Given the description of an element on the screen output the (x, y) to click on. 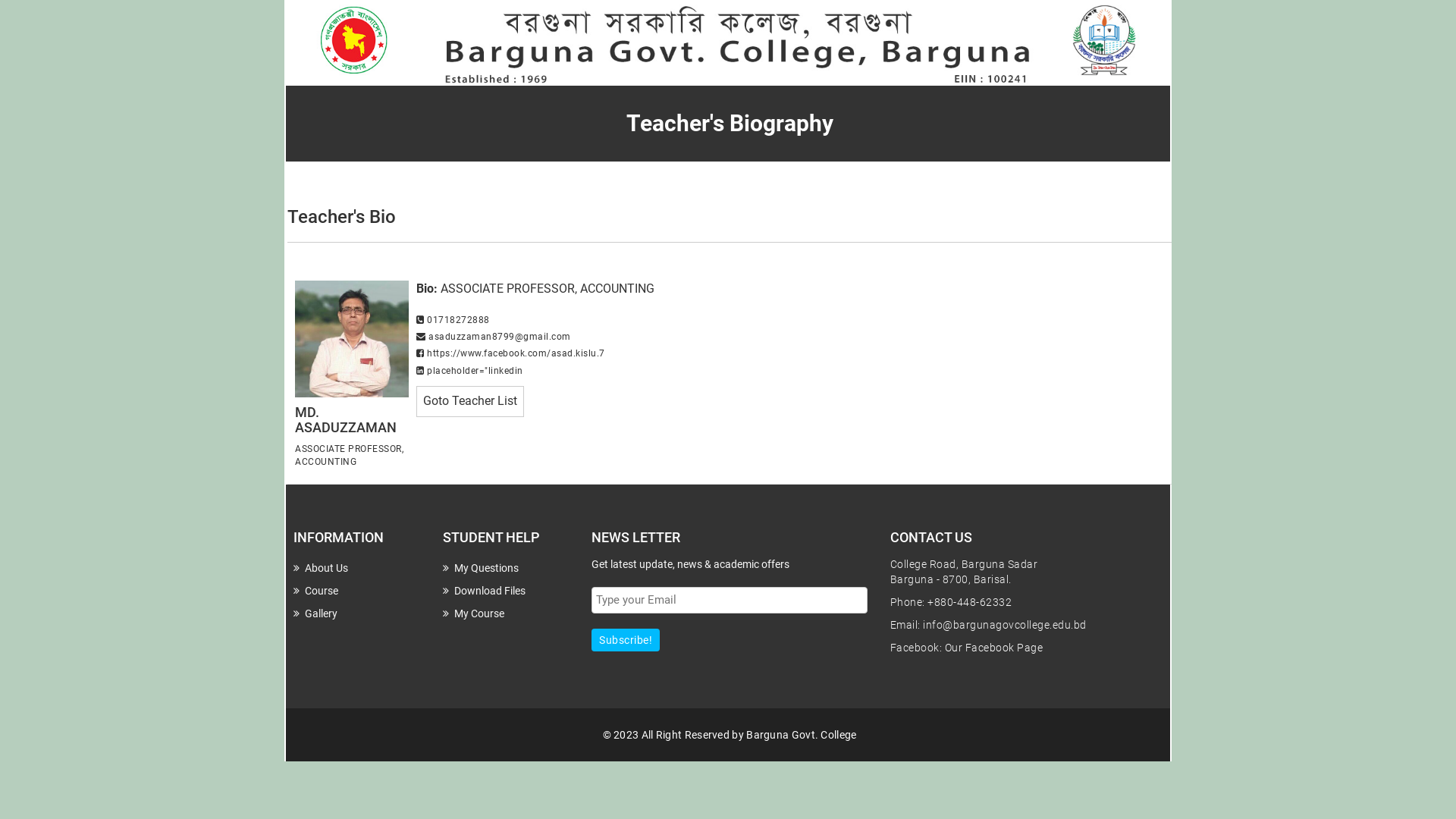
My Course Element type: text (473, 613)
Download Files Element type: text (483, 590)
Course Element type: text (315, 590)
My Questions Element type: text (480, 567)
Our Facebook Page Element type: text (993, 647)
Subscribe! Element type: text (625, 639)
About Us Element type: text (320, 567)
Gallery Element type: text (315, 613)
Goto Teacher List Element type: text (470, 401)
